Given the description of an element on the screen output the (x, y) to click on. 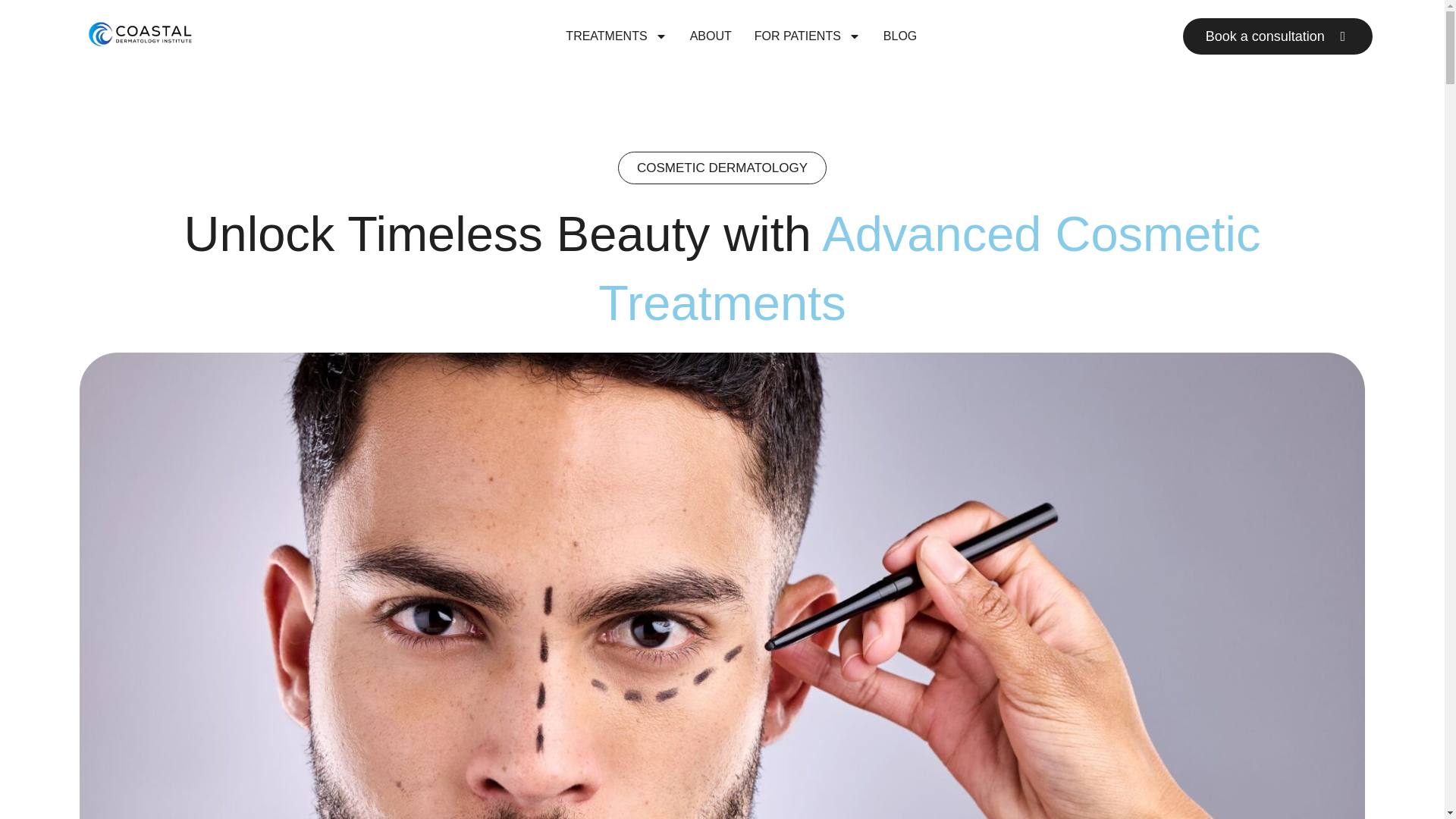
TREATMENTS (616, 35)
ABOUT (711, 35)
BLOG (900, 35)
FOR PATIENTS (807, 35)
